Given the description of an element on the screen output the (x, y) to click on. 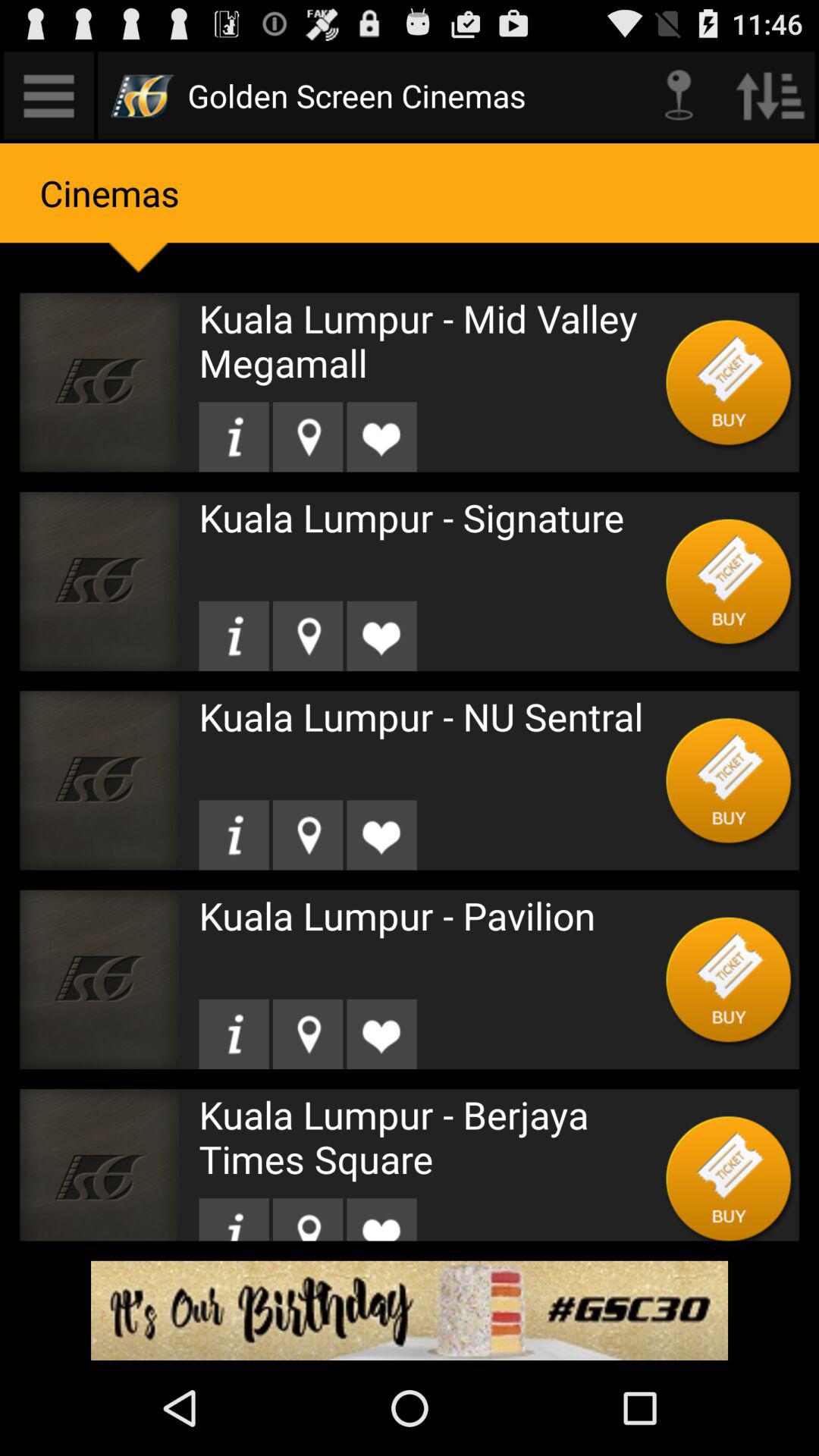
go to location button (307, 437)
